Given the description of an element on the screen output the (x, y) to click on. 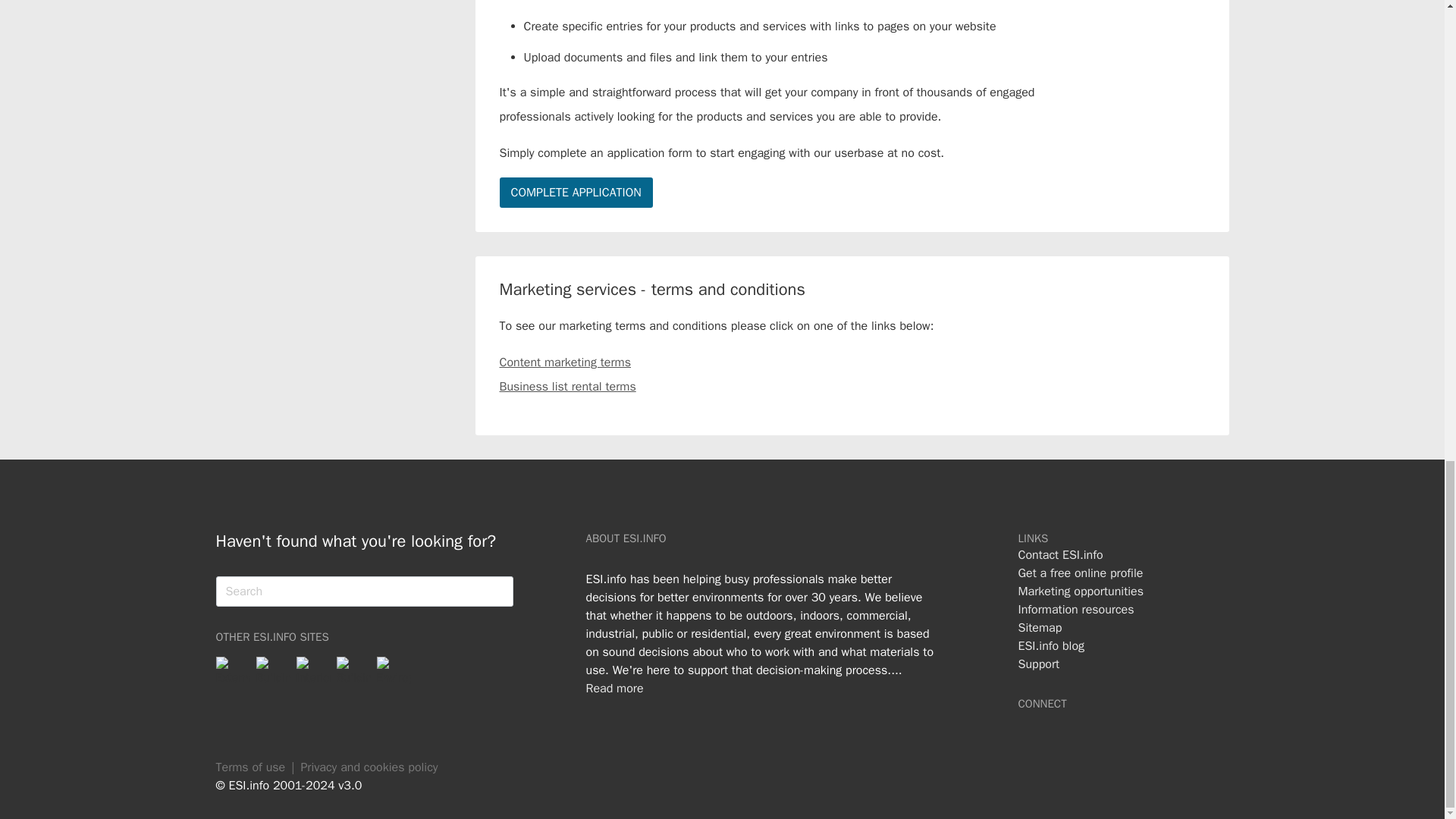
Sitemap (1039, 628)
Terms of use (250, 767)
Marketing opportunities (1079, 591)
Privacy and cookies policy (368, 767)
ESI.info blog (1050, 646)
Content marketing terms (564, 362)
Support (1038, 664)
Information resources (1075, 609)
Business list rental terms (566, 386)
Read more (614, 688)
